Given the description of an element on the screen output the (x, y) to click on. 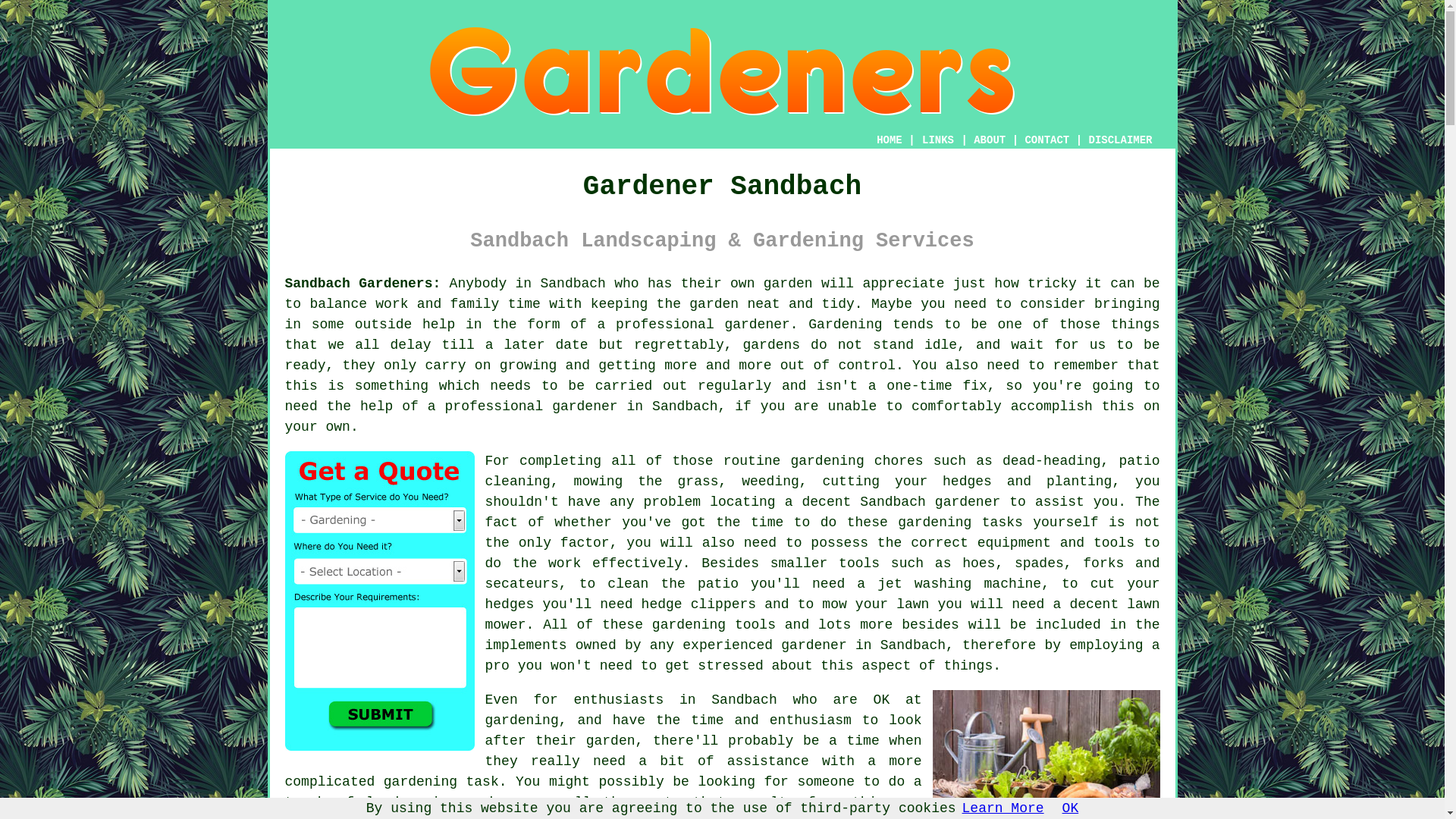
Gardener Sandbach (1046, 754)
Gardener Sandbach (722, 71)
HOME (889, 140)
LINKS (938, 140)
Gardening (845, 324)
gardener (584, 406)
landscaping (411, 801)
garden (787, 283)
gardens (771, 344)
gardening (826, 460)
